Given the description of an element on the screen output the (x, y) to click on. 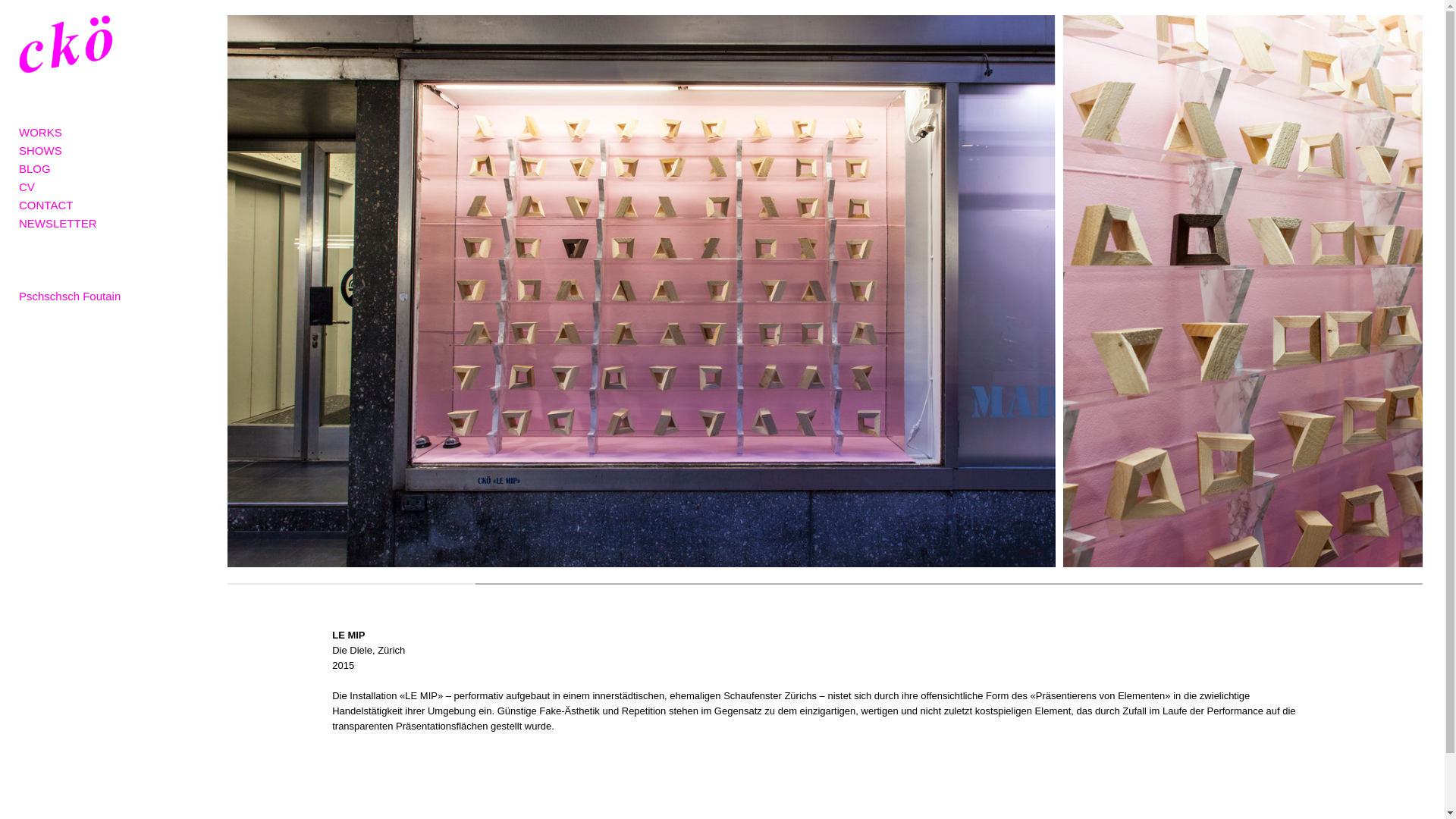
NEWSLETTER Element type: text (57, 222)
  Element type: text (19, 277)
  Element type: text (19, 241)
BLOG Element type: text (34, 168)
CV Element type: text (26, 186)
  Element type: text (19, 113)
WORKS Element type: text (40, 131)
  Element type: text (19, 259)
SHOWS Element type: text (40, 150)
CONTACT Element type: text (45, 204)
Pschschsch Foutain Element type: text (69, 295)
